Given the description of an element on the screen output the (x, y) to click on. 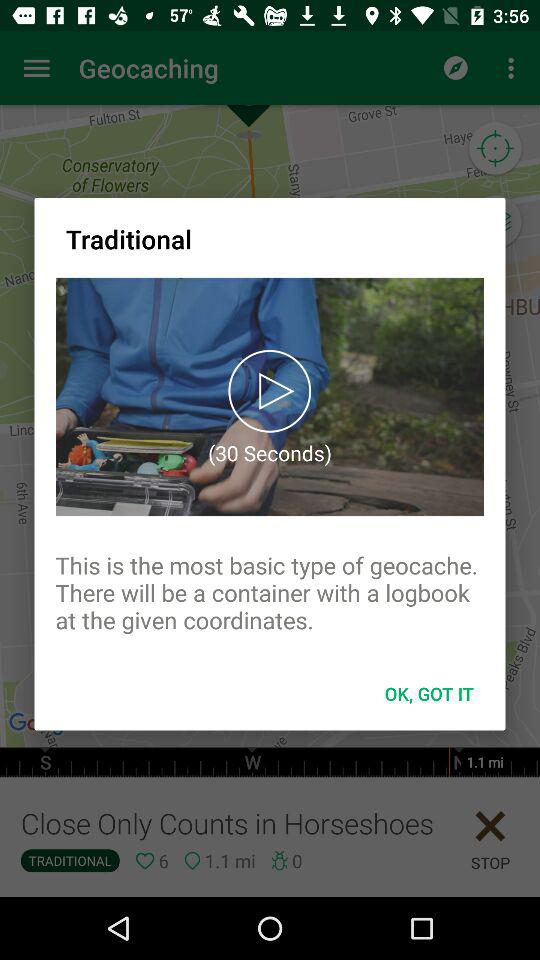
flip to the ok, got it icon (429, 693)
